Given the description of an element on the screen output the (x, y) to click on. 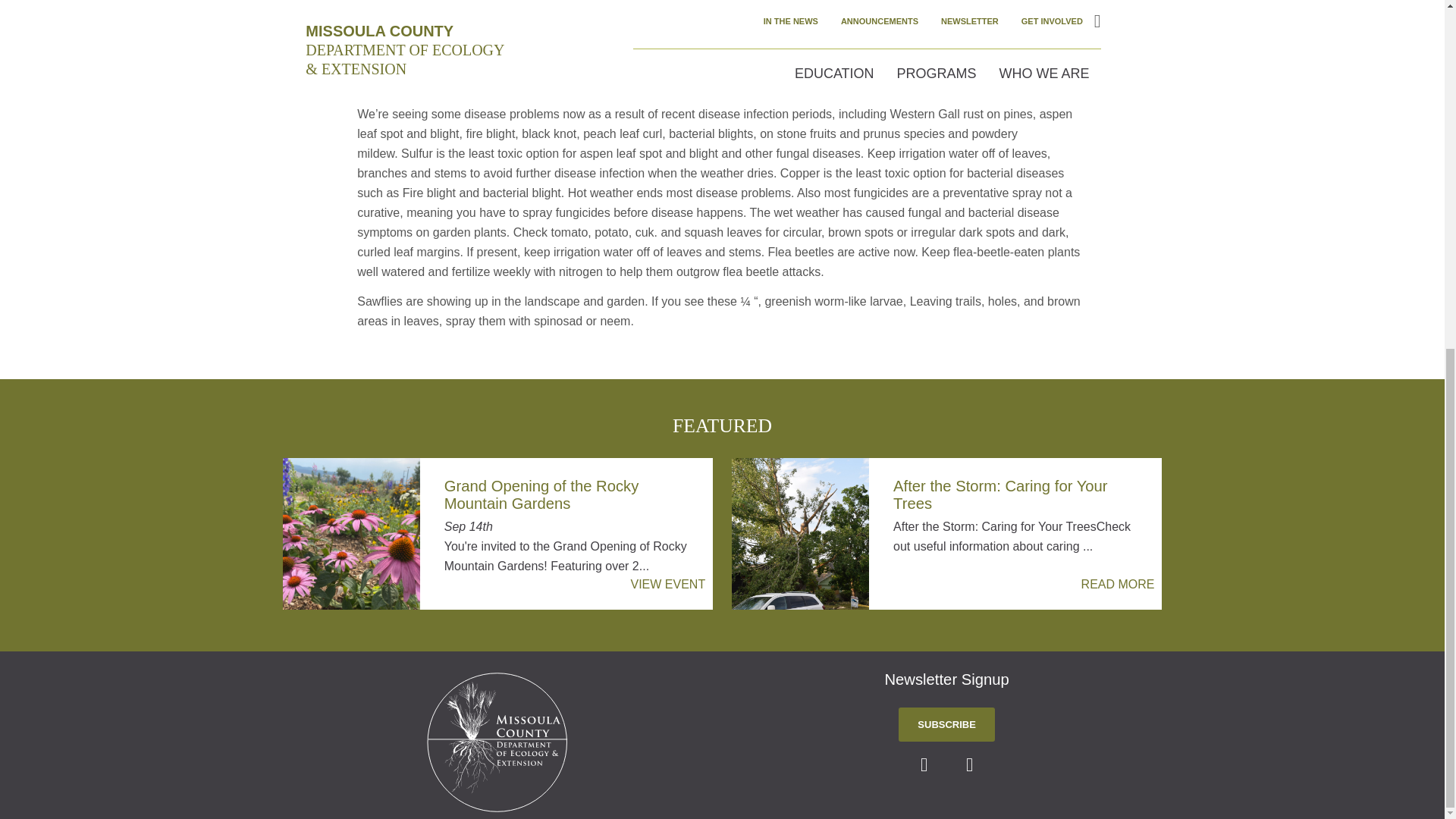
VIEW EVENT (667, 584)
After the Storm: Caring for Your Trees (1020, 494)
Grand Opening of the Rocky Mountain Gardens (570, 494)
READ MORE (1117, 584)
